Given the description of an element on the screen output the (x, y) to click on. 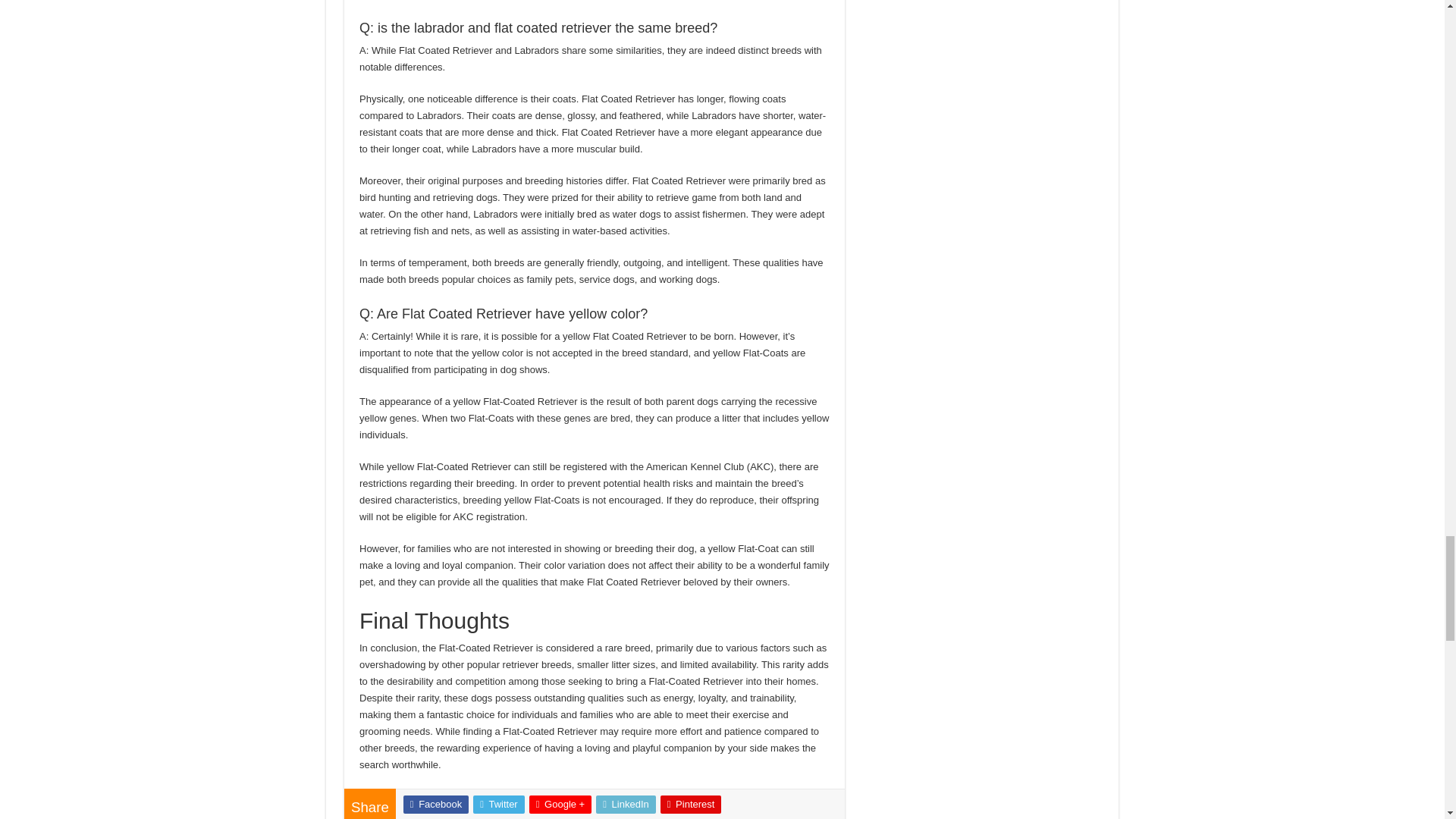
Twitter (498, 804)
Pinterest (691, 804)
LinkedIn (625, 804)
Facebook (435, 804)
